Given the description of an element on the screen output the (x, y) to click on. 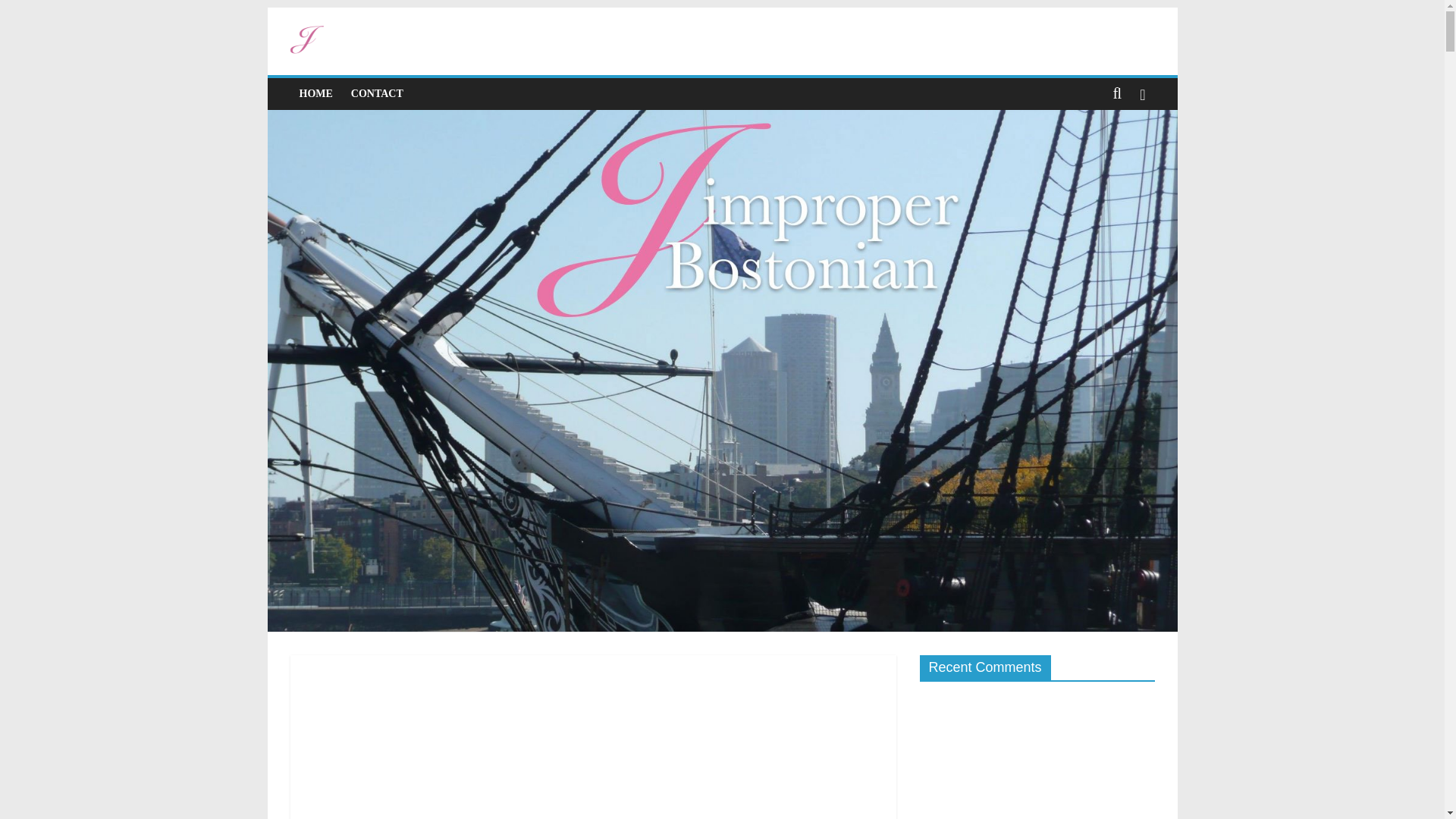
HOME (314, 93)
CONTACT (377, 93)
